Given the description of an element on the screen output the (x, y) to click on. 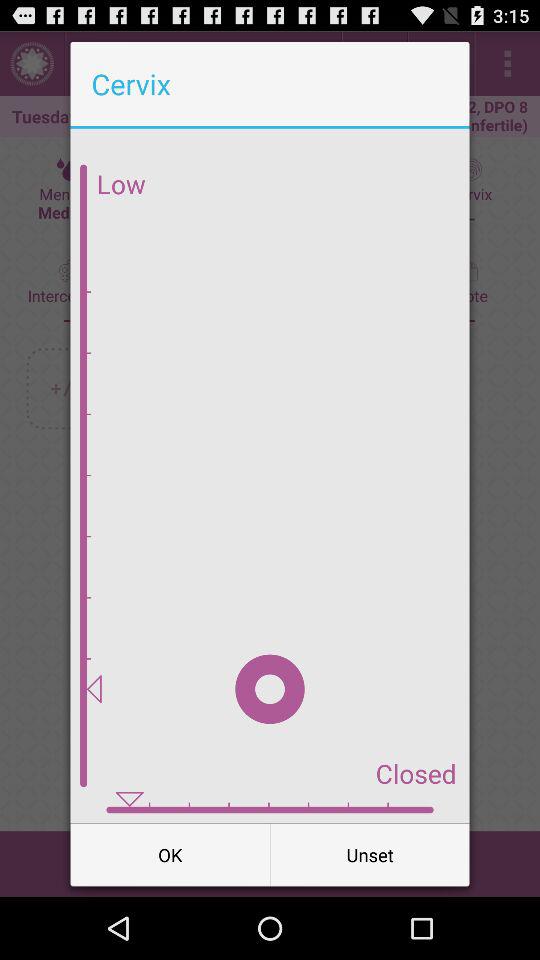
click the icon to the left of unset icon (170, 854)
